Given the description of an element on the screen output the (x, y) to click on. 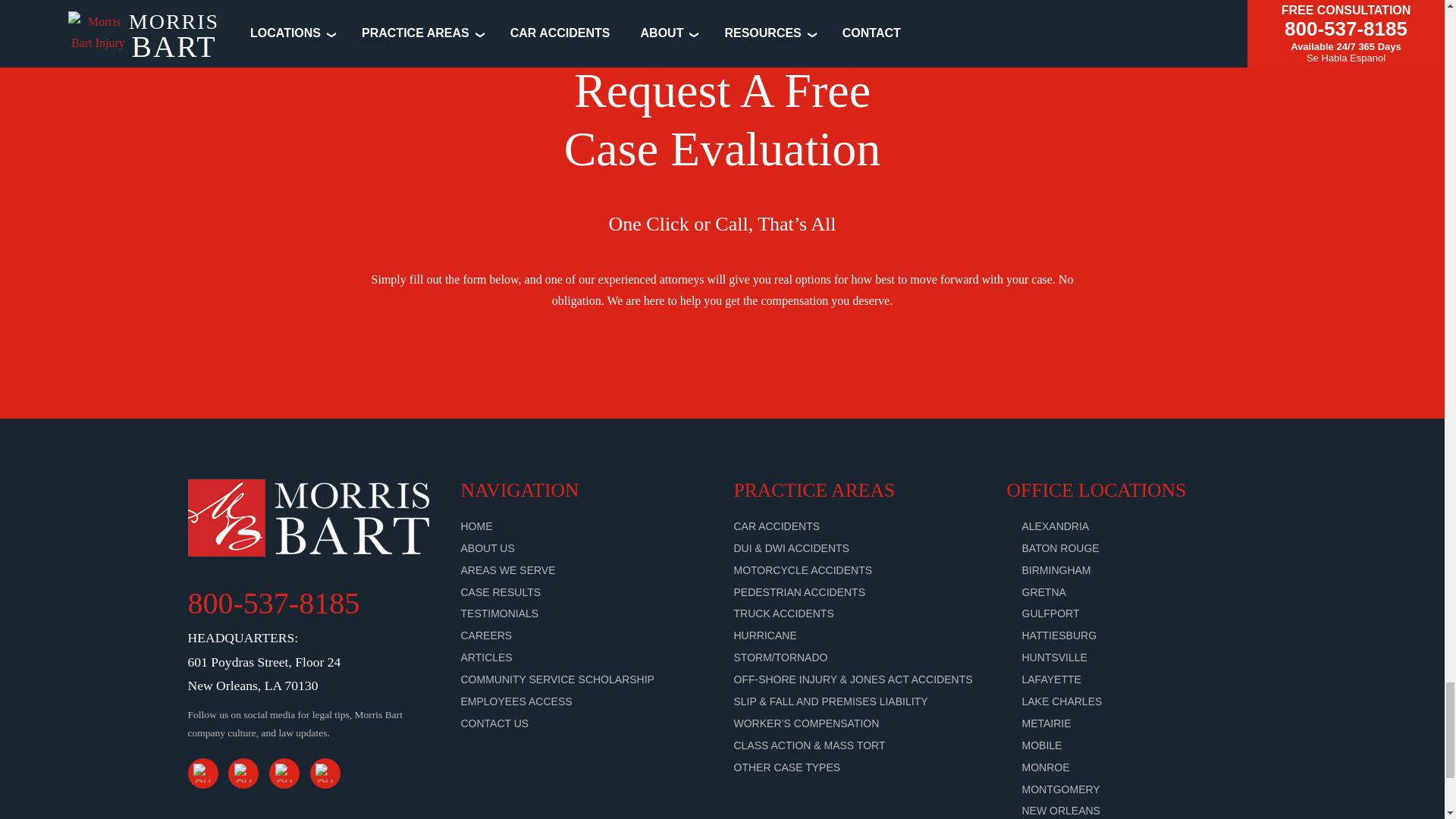
Careers (486, 635)
Articles (486, 657)
Areas We Serve (508, 570)
Case results (501, 591)
About us (488, 548)
Testimonials (499, 613)
